Given the description of an element on the screen output the (x, y) to click on. 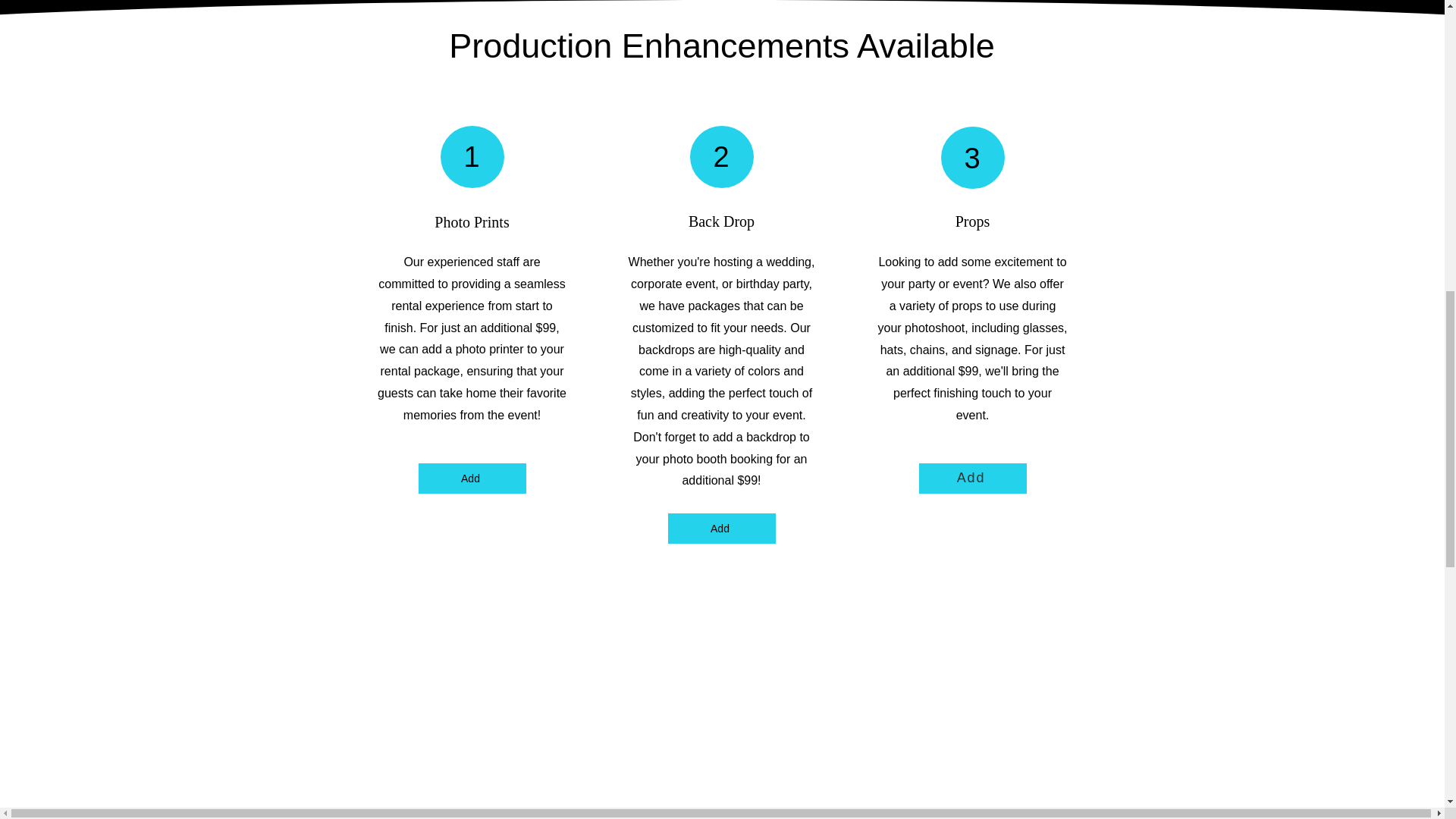
Add (720, 528)
Add (472, 478)
Add (972, 478)
